Given the description of an element on the screen output the (x, y) to click on. 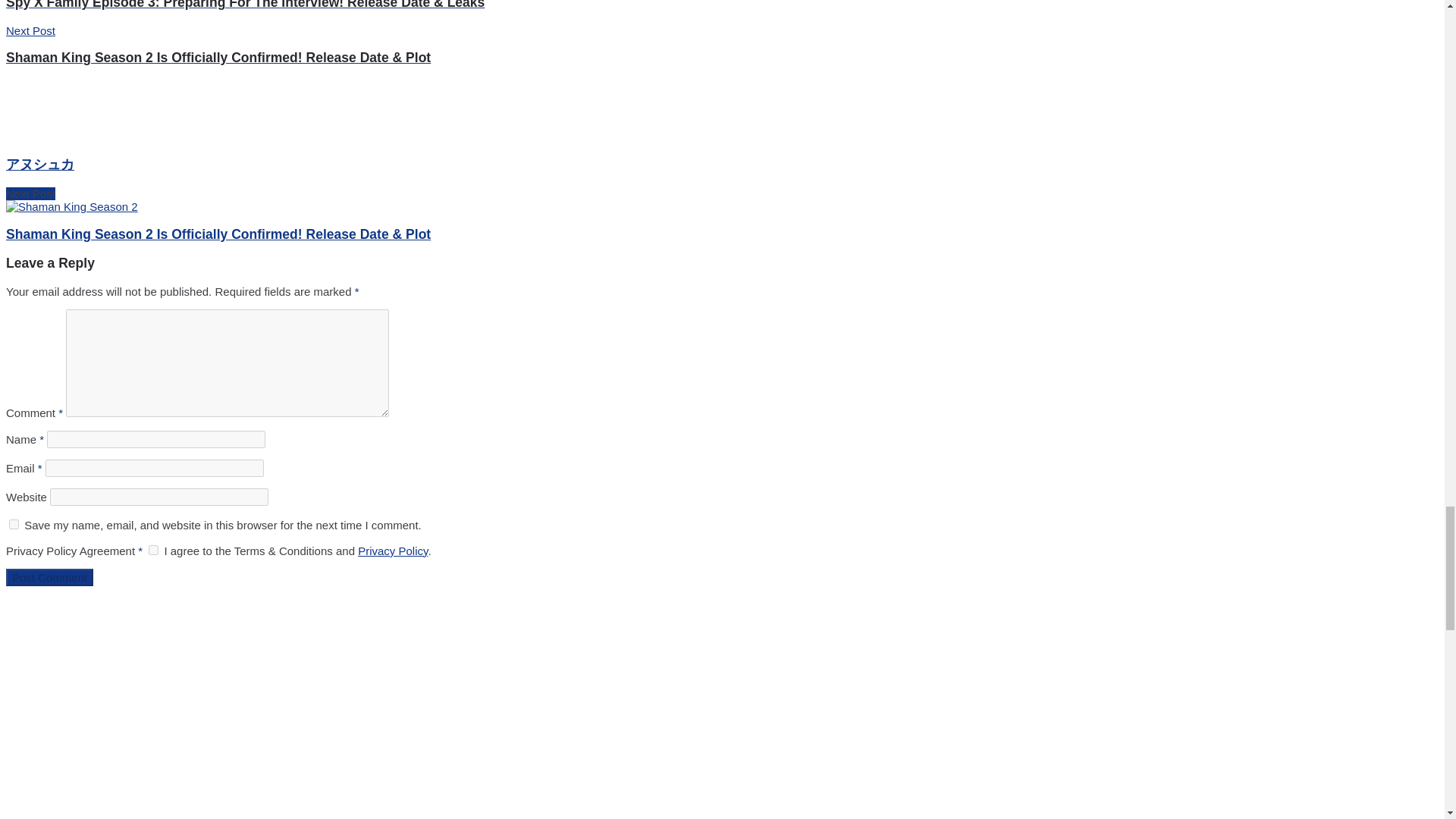
Post Comment (49, 577)
on (153, 550)
yes (13, 524)
